Given the description of an element on the screen output the (x, y) to click on. 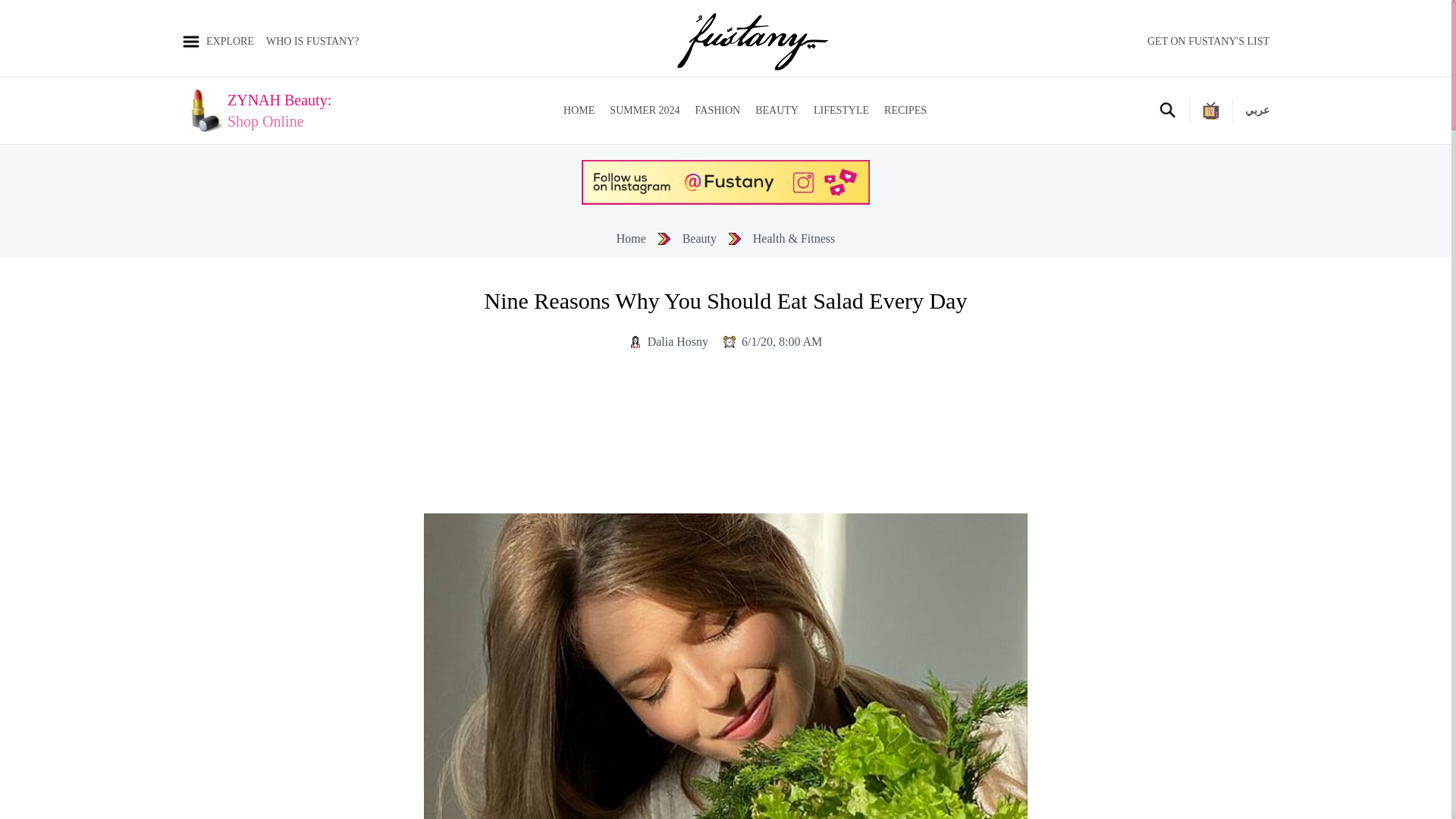
HOME (578, 110)
BEAUTY (776, 110)
LIFESTYLE (841, 110)
3rd party ad content (279, 110)
SUMMER 2024 (1208, 41)
FASHION (644, 110)
RECIPES (718, 110)
WHO IS FUSTANY? (904, 110)
